Given the description of an element on the screen output the (x, y) to click on. 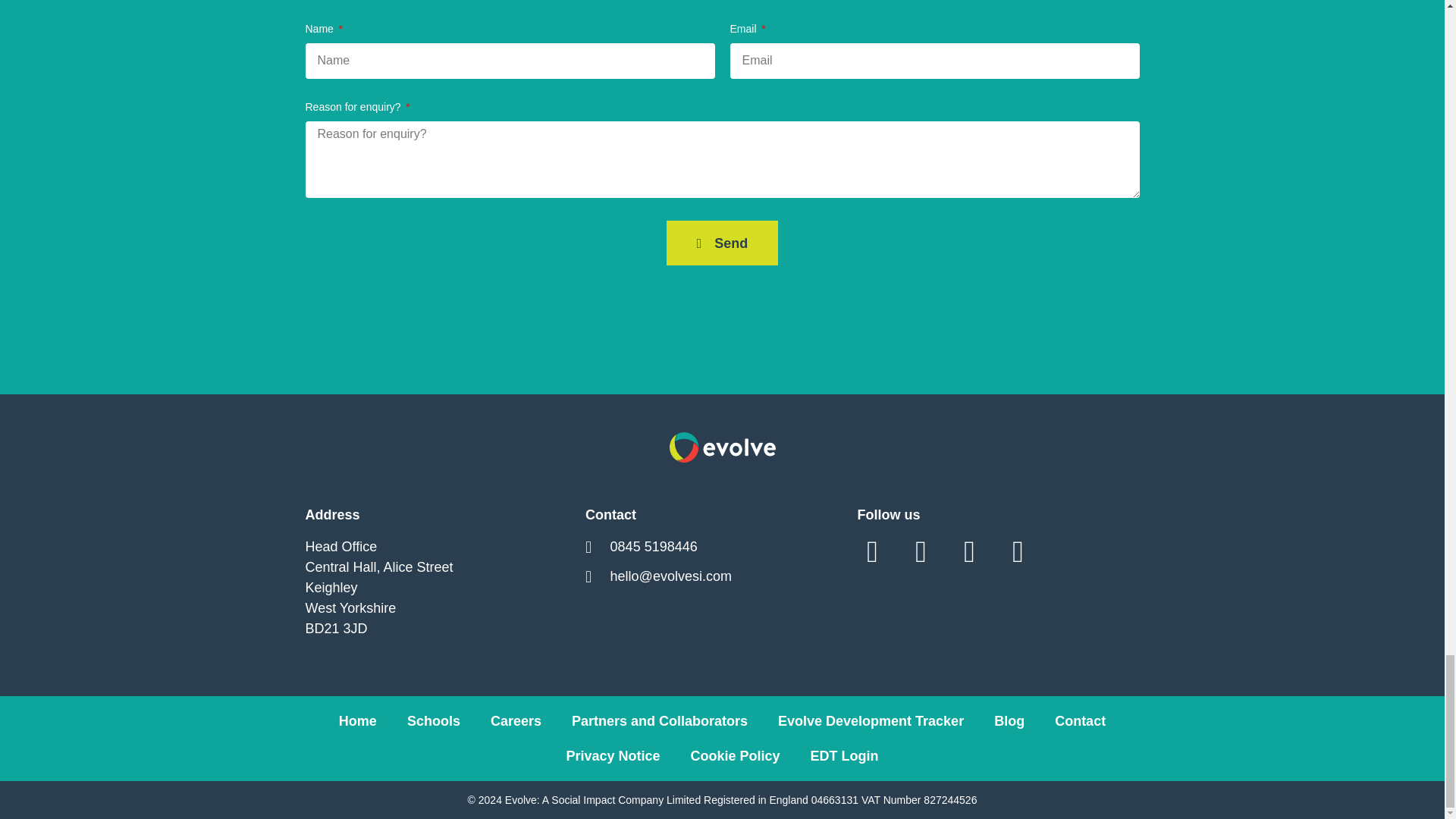
Contact (1080, 720)
Privacy Notice (612, 755)
Careers (516, 720)
Partners and Collaborators (659, 720)
Schools (433, 720)
Cookie Policy (734, 755)
Home (357, 720)
EDT Login (843, 755)
0845 5198446 (713, 547)
Send (722, 242)
